Given the description of an element on the screen output the (x, y) to click on. 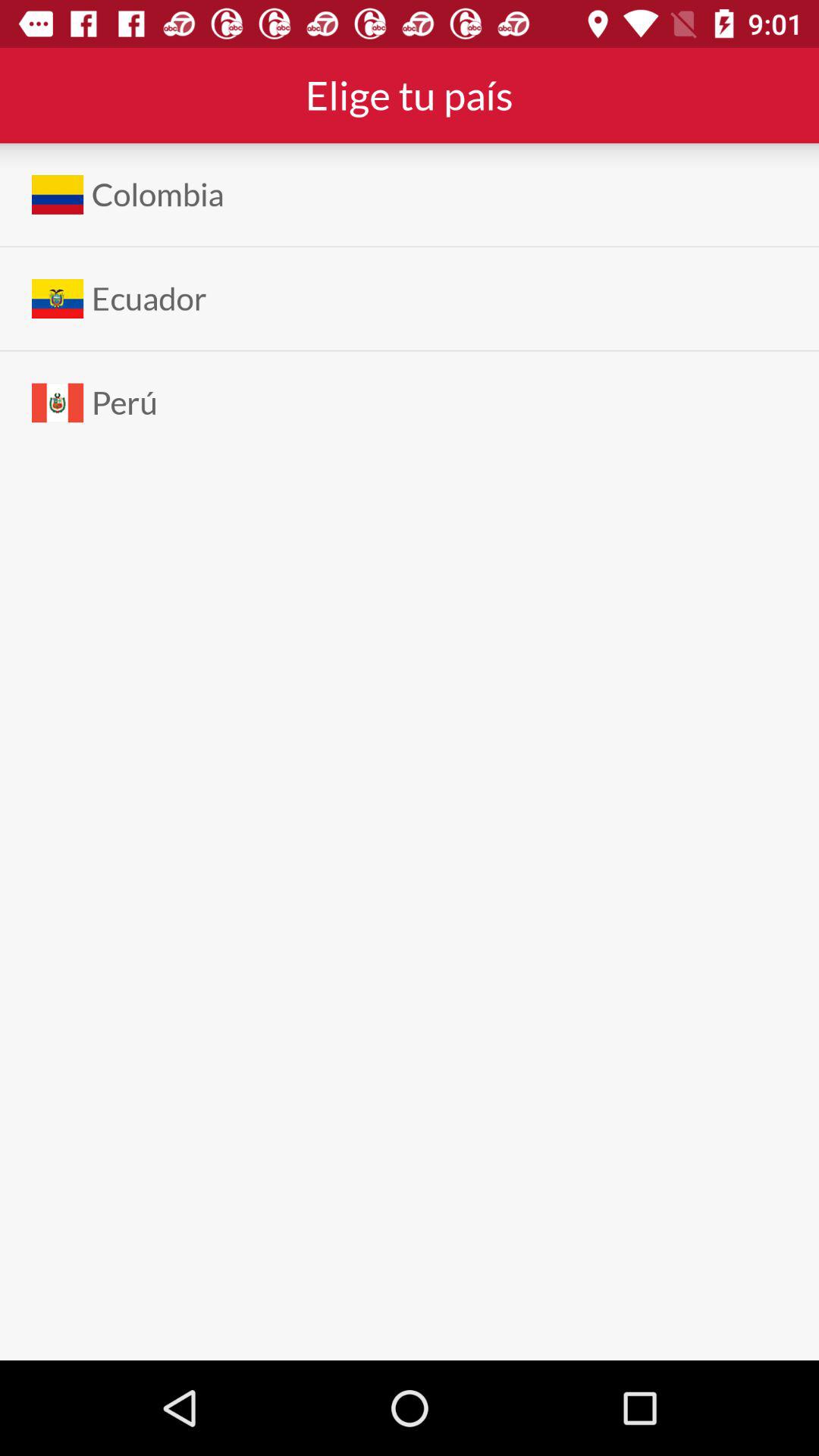
swipe to ecuador app (149, 298)
